Given the description of an element on the screen output the (x, y) to click on. 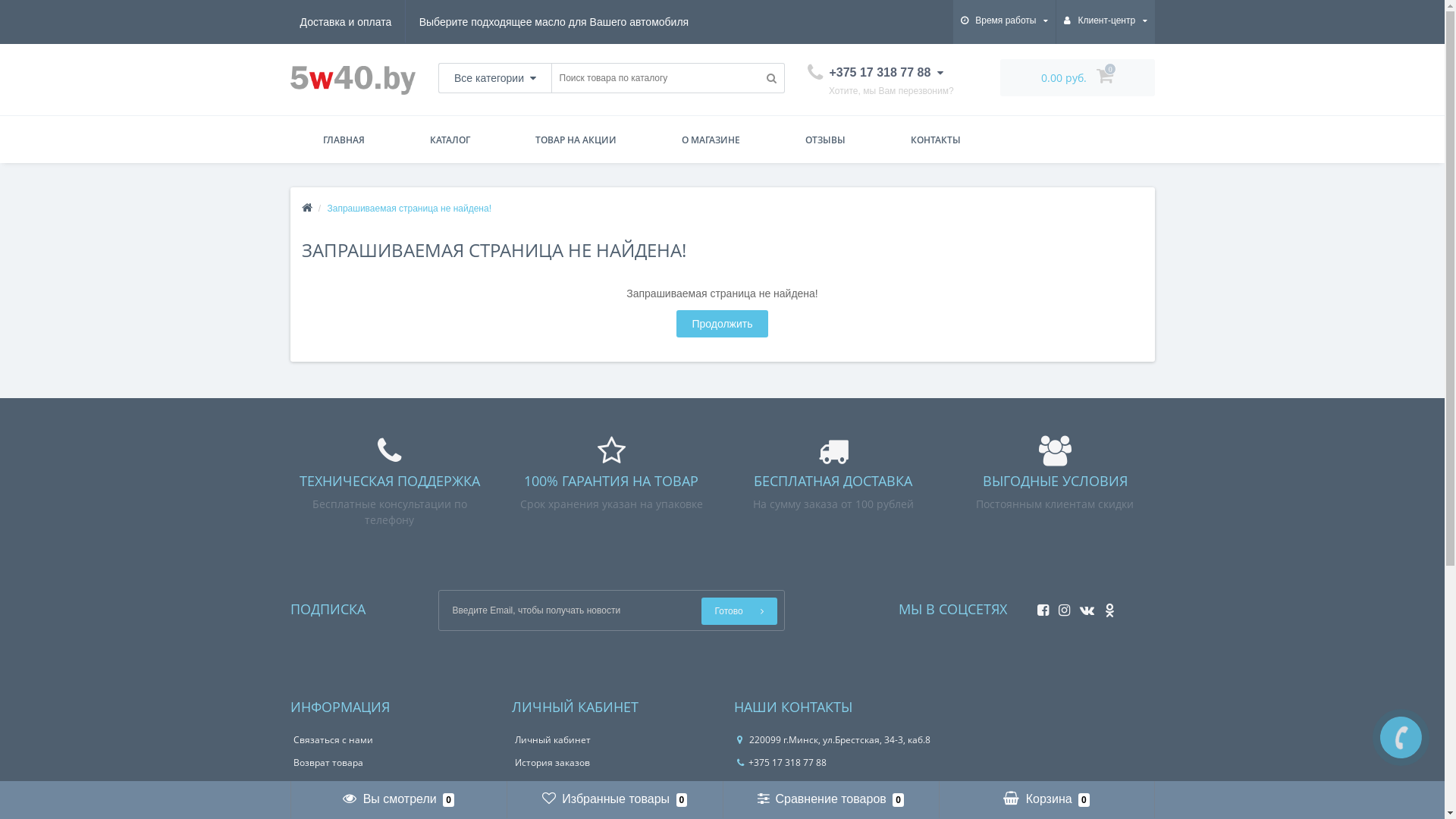
Facebook Element type: hover (1038, 605)
+375 17 275 75 73 Element type: text (781, 784)
Instagram Element type: hover (1060, 605)
+375 29 679 77 88 Element type: text (781, 807)
+375 17 318 77 88 Element type: text (781, 762)
Odnoklassniki Element type: hover (1105, 605)
Vkonakte Element type: hover (1083, 605)
+375 17 318 77 88 Element type: text (875, 71)
